Given the description of an element on the screen output the (x, y) to click on. 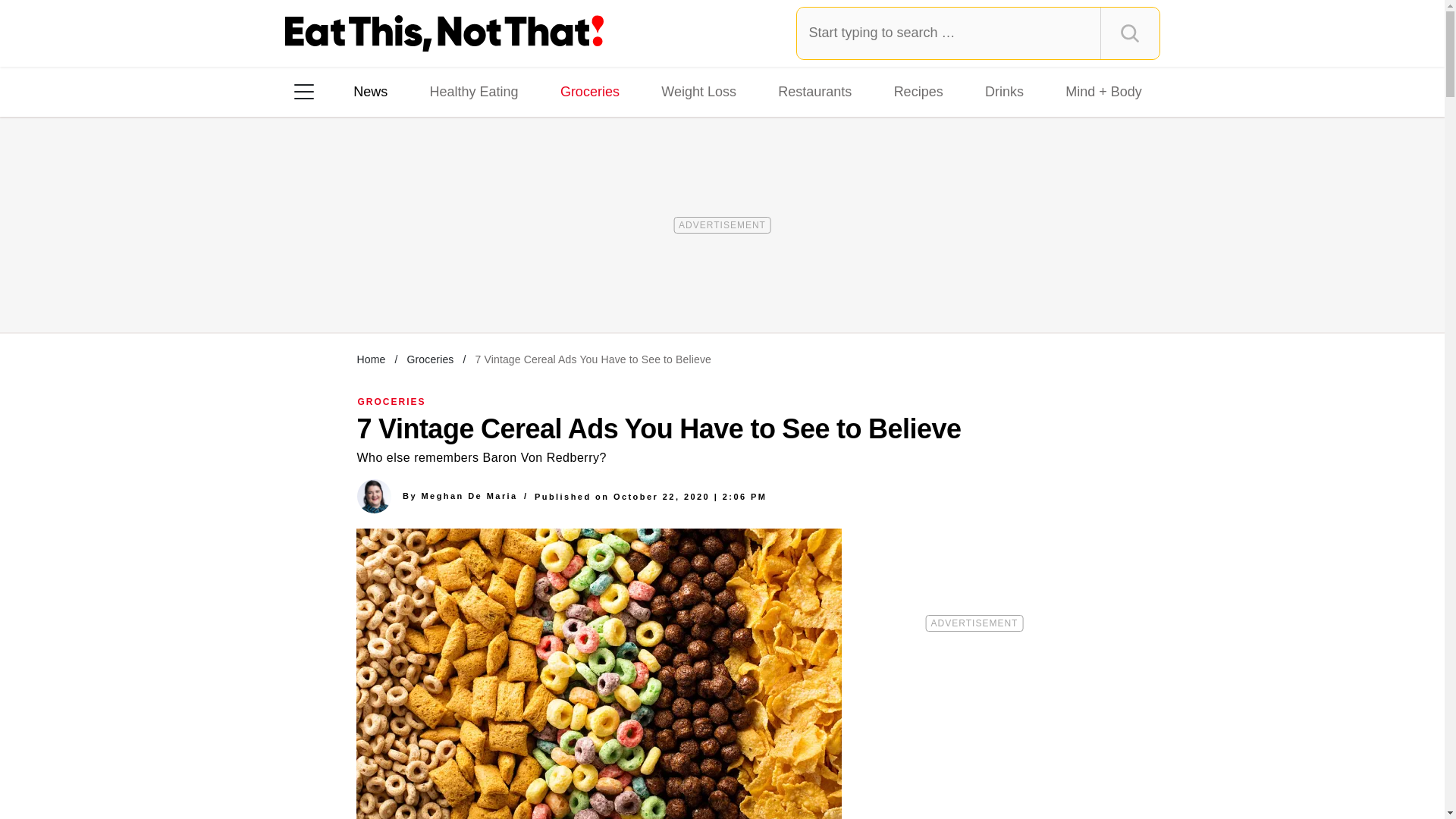
Weight Loss (698, 91)
Drinks (1003, 91)
Instagram (357, 287)
Restaurants (814, 91)
Type and press Enter to search (978, 32)
Facebook (314, 287)
Instagram (357, 287)
Pinterest (443, 287)
Home (370, 358)
Facebook (314, 287)
Groceries (590, 91)
GROCERIES (392, 401)
Pinterest (443, 287)
Recipes (918, 91)
Meghan De Maria (468, 495)
